Given the description of an element on the screen output the (x, y) to click on. 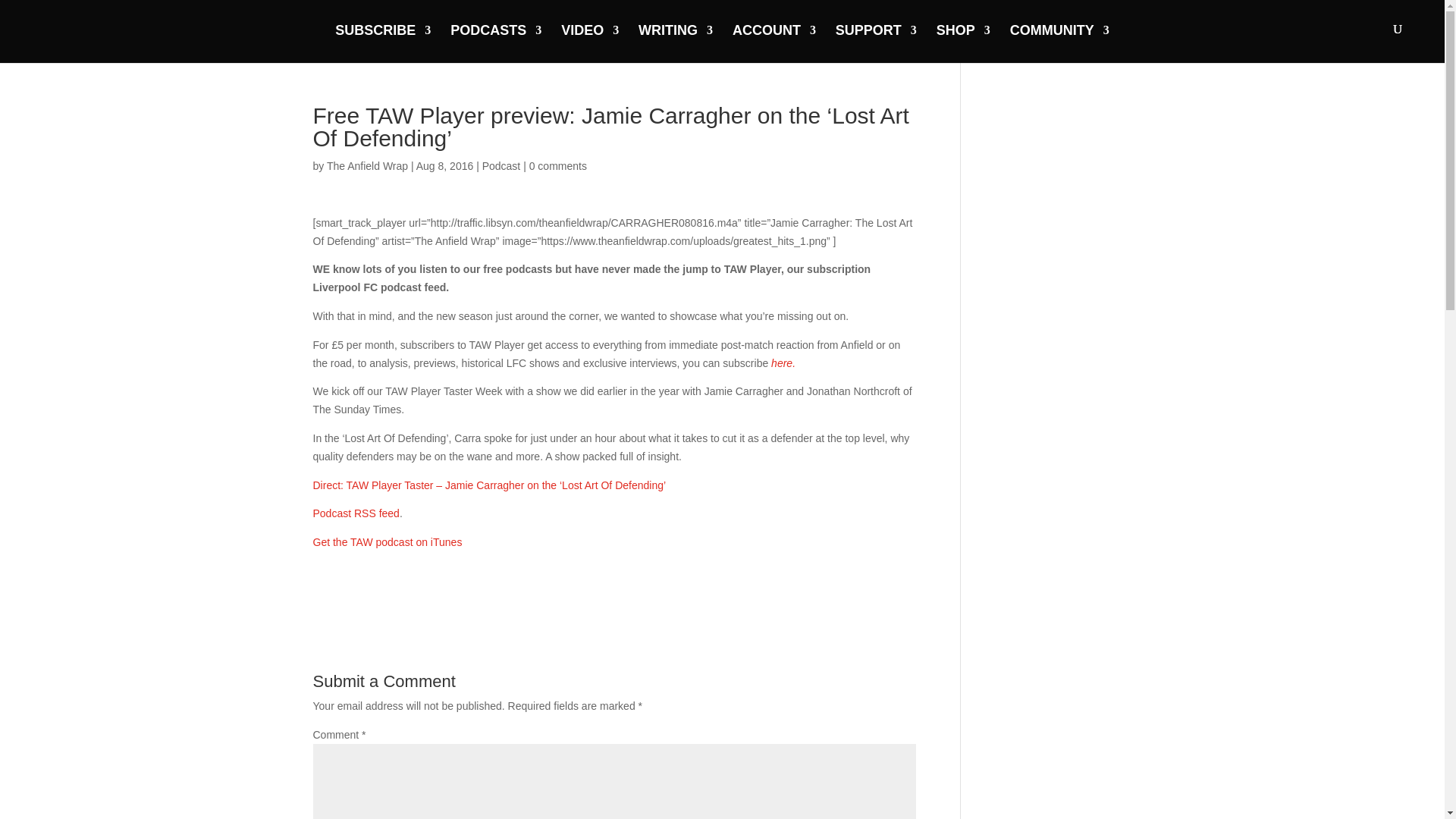
PODCASTS (495, 42)
SUBSCRIBE (382, 42)
COMMUNITY (1059, 42)
SUPPORT (876, 42)
SHOP (963, 42)
ACCOUNT (773, 42)
Posts by The Anfield Wrap (366, 165)
VIDEO (589, 42)
WRITING (676, 42)
